Given the description of an element on the screen output the (x, y) to click on. 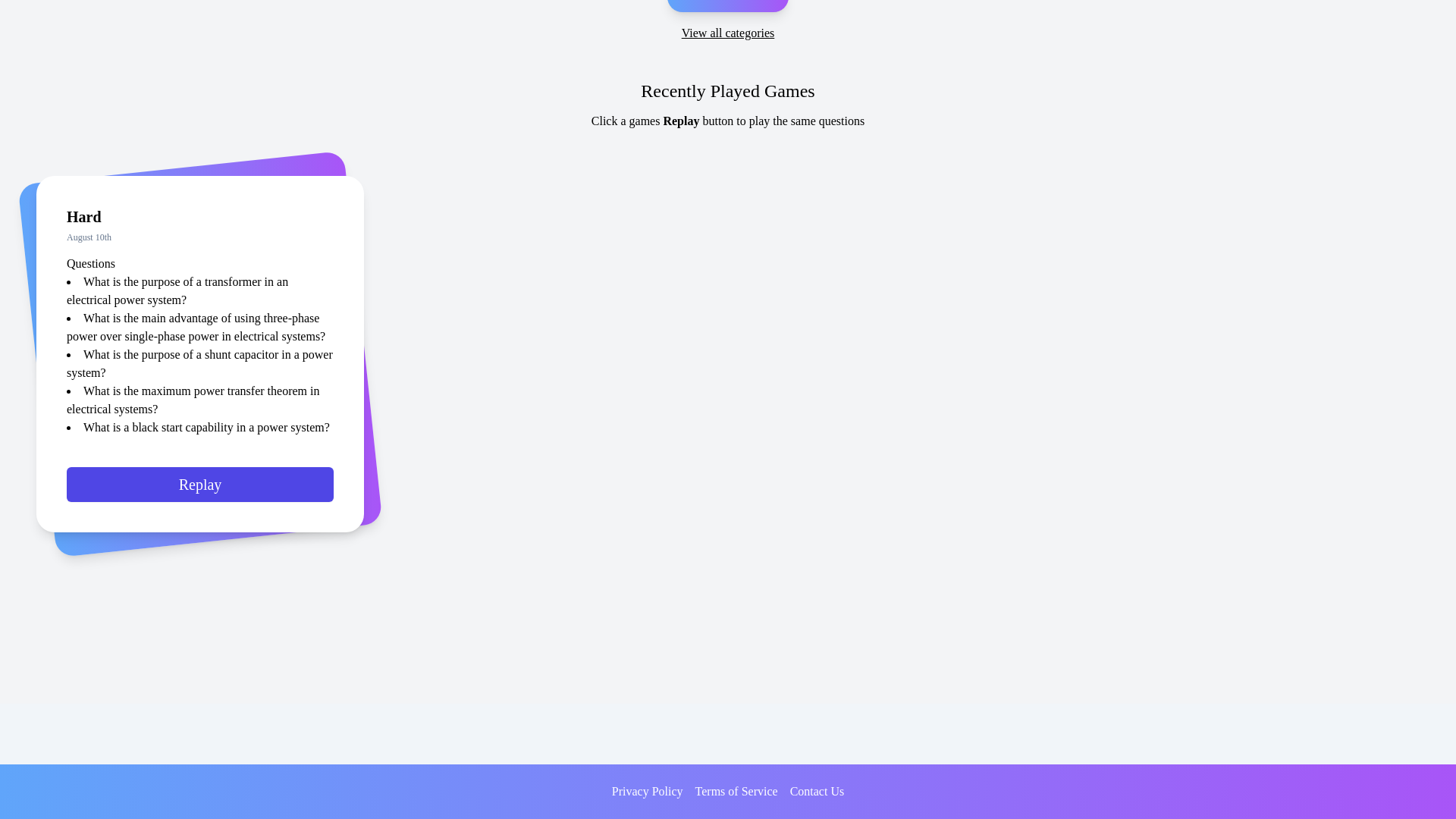
View all categories (727, 33)
Contact Us (817, 791)
Replay (199, 489)
Terms of Service (736, 791)
New Game (726, 6)
Privacy Policy (646, 791)
